Given the description of an element on the screen output the (x, y) to click on. 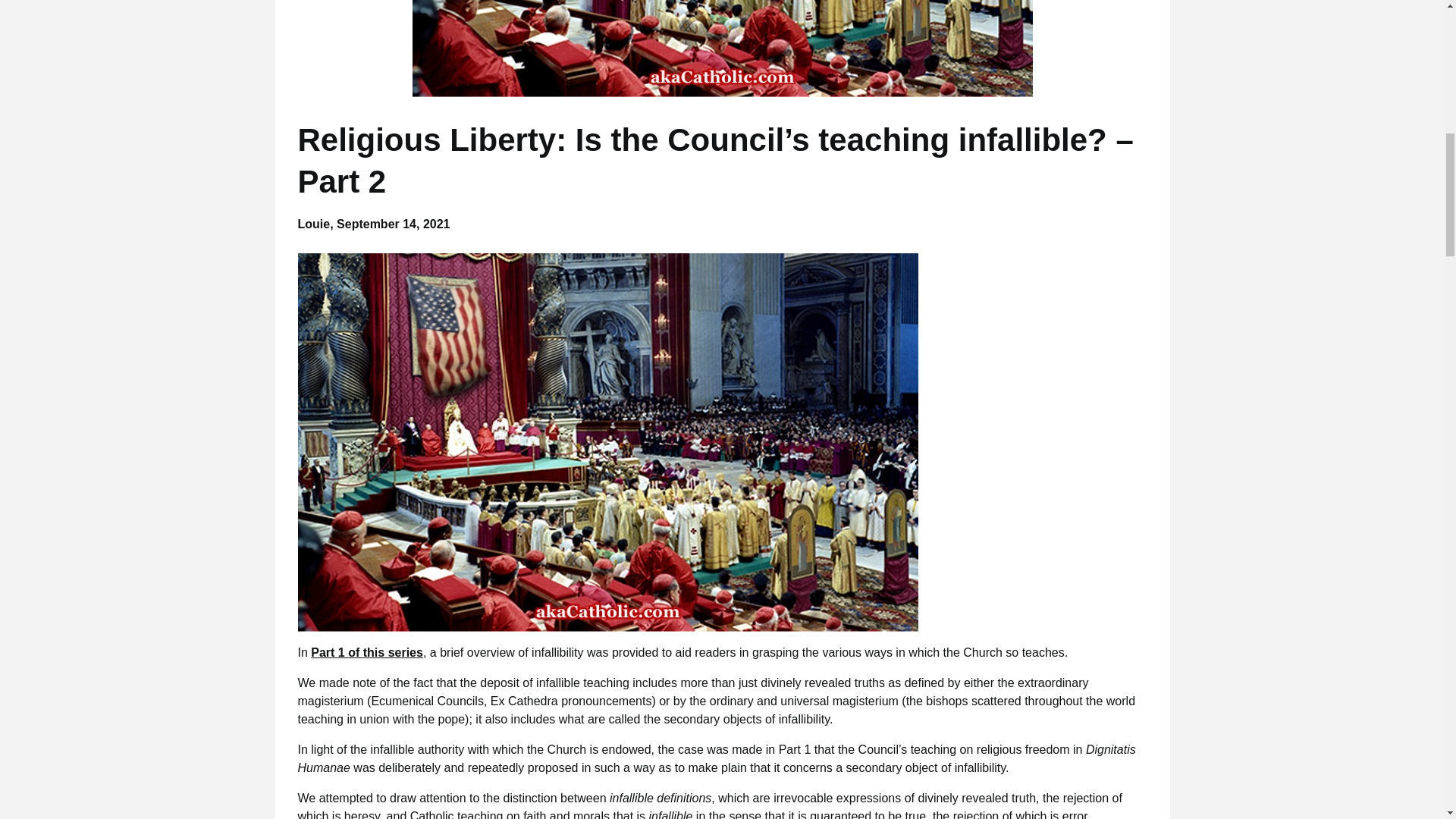
September 14, 2021 (392, 223)
Part 1 of this series (367, 652)
